Given the description of an element on the screen output the (x, y) to click on. 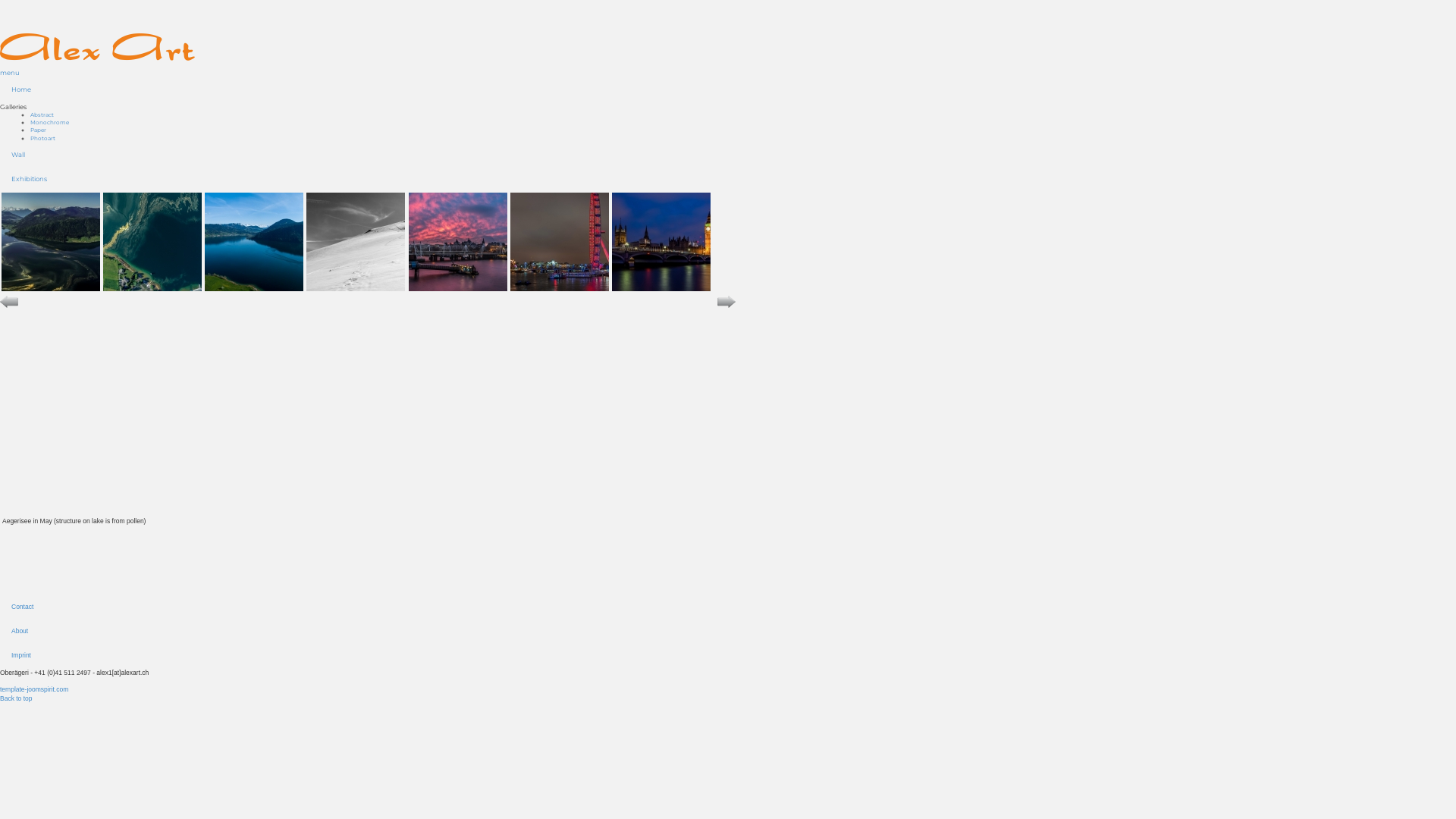
Paper Element type: text (38, 129)
menu Element type: text (9, 72)
Wall Element type: text (371, 154)
Photoart Element type: text (42, 137)
logo Element type: hover (97, 46)
template-joomspirit.com Element type: text (34, 689)
Home Element type: hover (97, 46)
Abstract Element type: text (41, 114)
Contact Element type: text (371, 606)
Monochrome Element type: text (49, 122)
Home Element type: text (371, 89)
About Element type: text (371, 630)
Back to top Element type: text (16, 698)
Imprint Element type: text (371, 655)
Exhibitions Element type: text (371, 178)
